Given the description of an element on the screen output the (x, y) to click on. 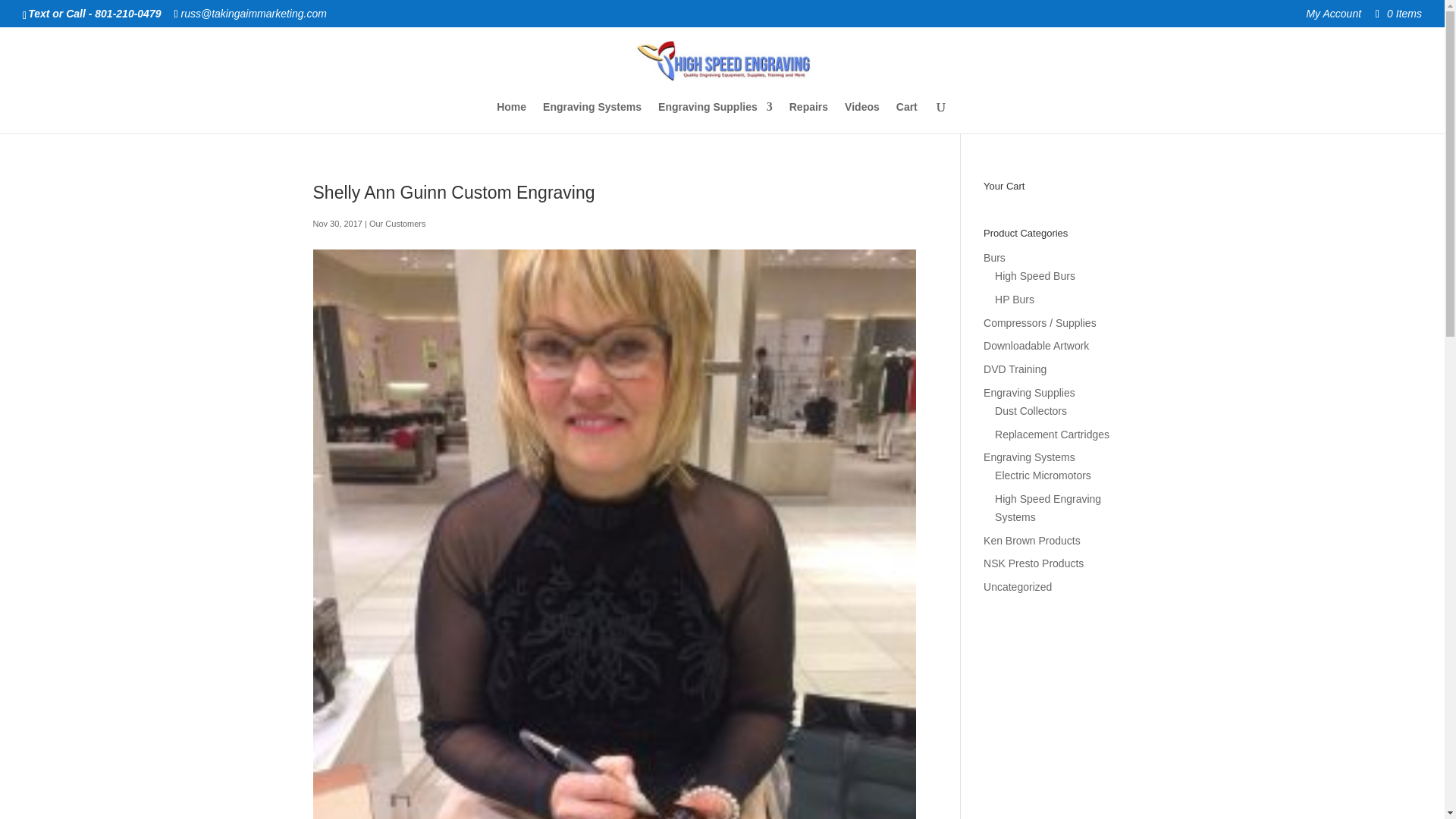
Videos (861, 117)
Downloadable Artwork (1036, 345)
High Speed Burs (1034, 275)
DVD Training (1015, 369)
0 Items (1397, 13)
Visit Utah Handpiece Repairs for all repairs to your tools! (808, 117)
Engraving Supplies (715, 117)
HP Burs (1013, 299)
My Account (1333, 16)
Engraving Supplies (1029, 392)
